Given the description of an element on the screen output the (x, y) to click on. 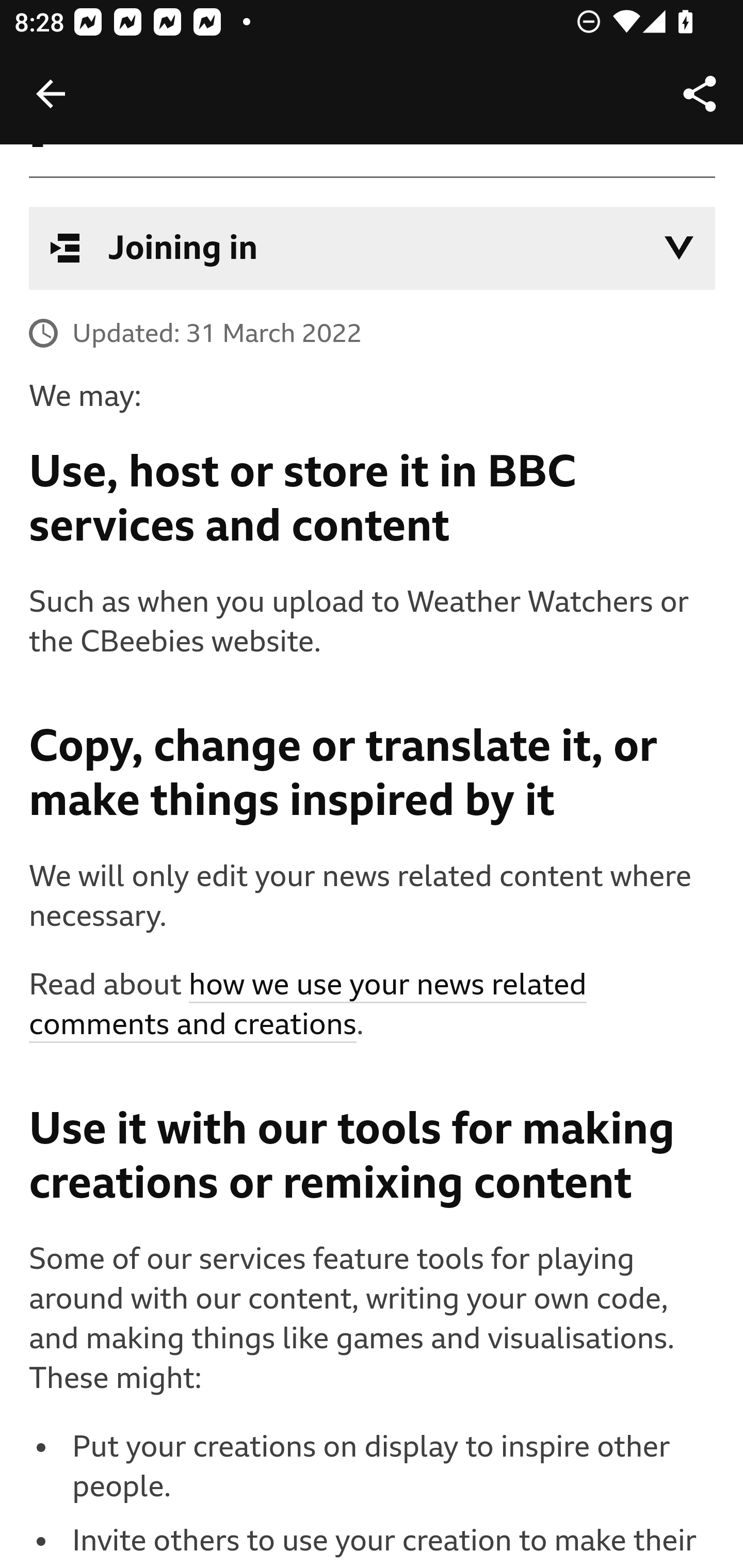
Back (50, 93)
Share (699, 93)
Open in-page navigation (679, 247)
